Given the description of an element on the screen output the (x, y) to click on. 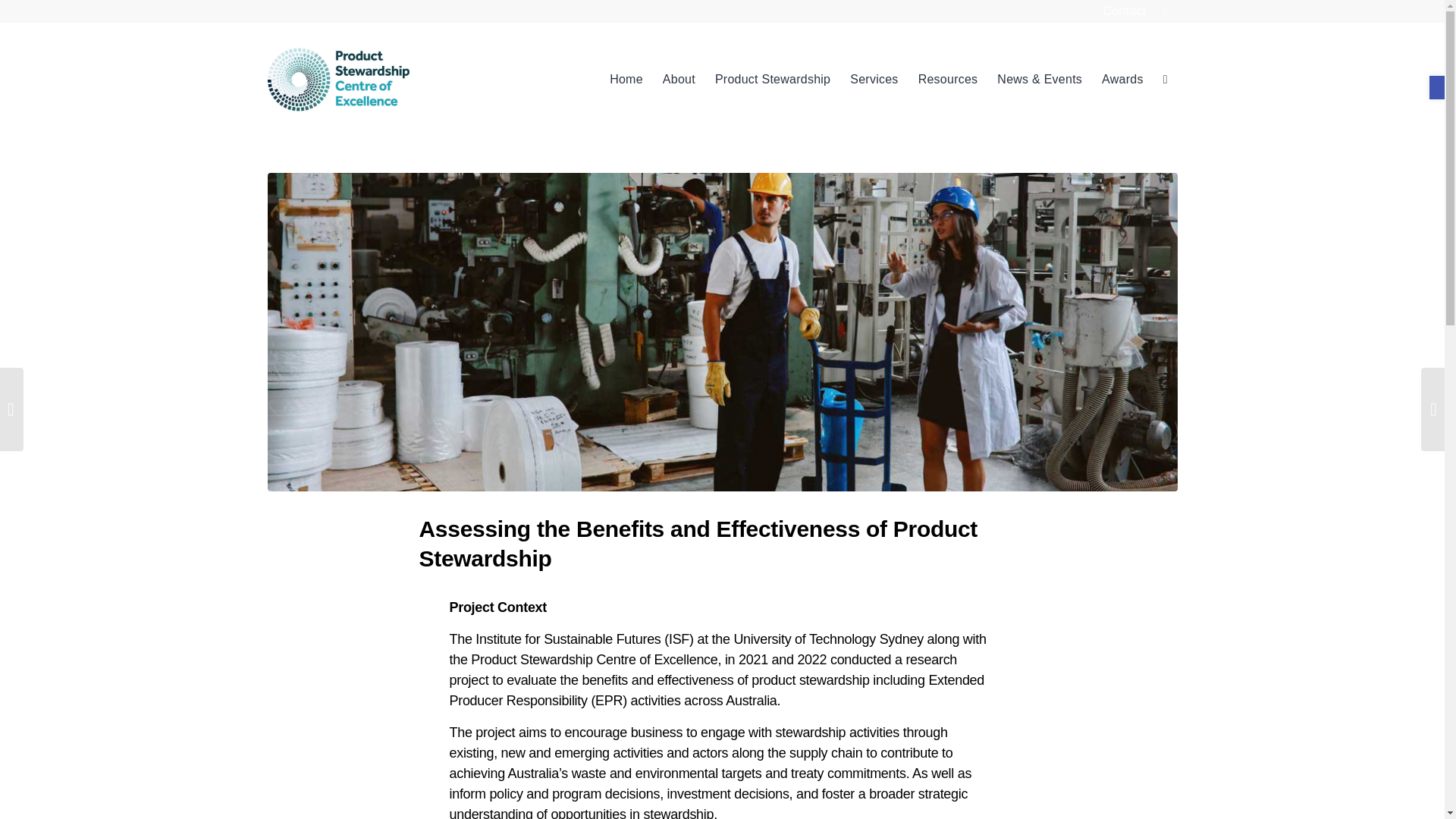
PSCE-Logo-1000-23 (337, 79)
LinkedIn (1165, 11)
Contact (1125, 11)
Product Stewardship (772, 79)
